Given the description of an element on the screen output the (x, y) to click on. 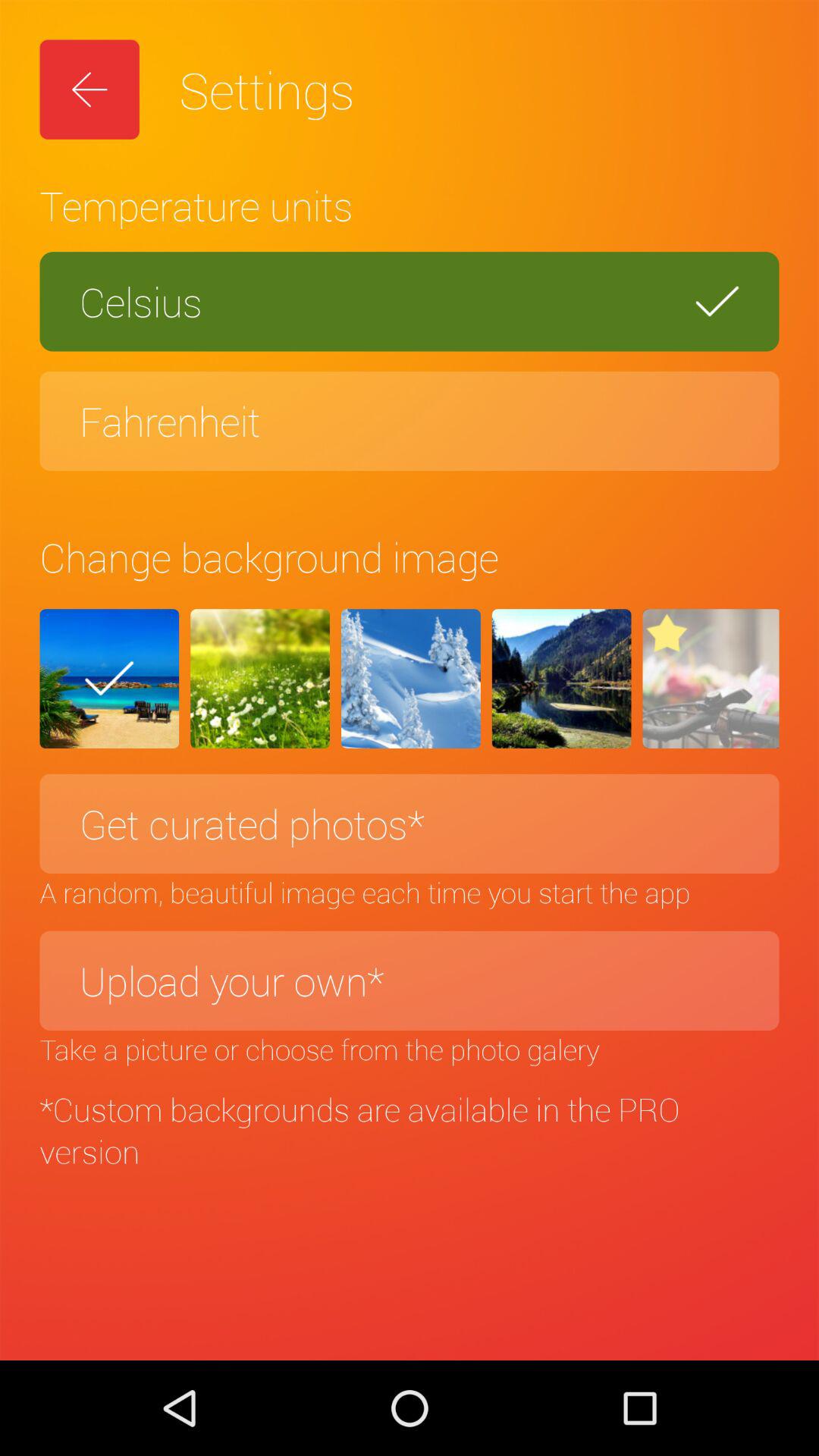
press item below celsius (409, 420)
